Given the description of an element on the screen output the (x, y) to click on. 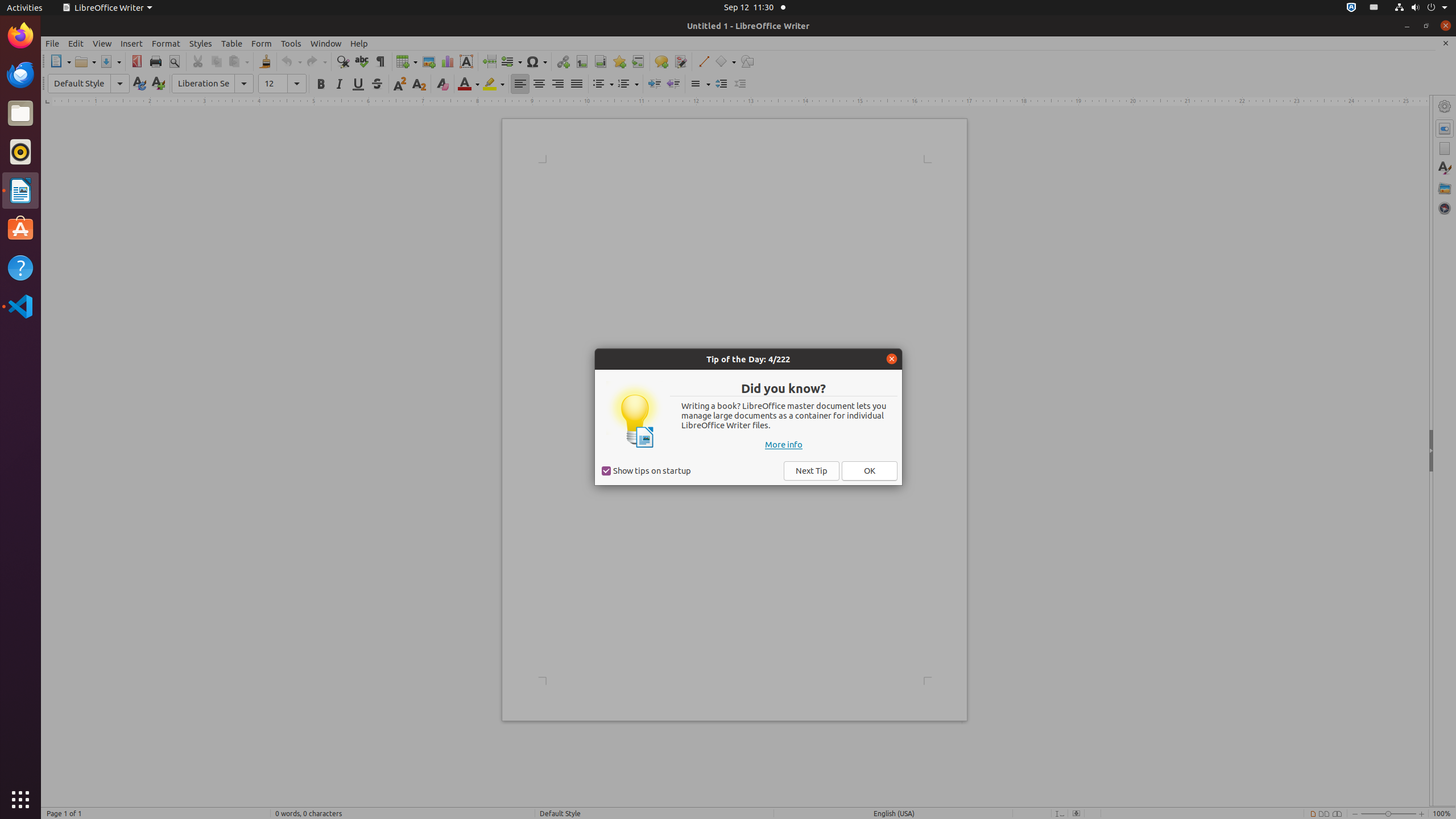
luyi1 Element type: label (75, 50)
Trash Element type: label (75, 108)
li.txt Element type: label (146, 50)
